Given the description of an element on the screen output the (x, y) to click on. 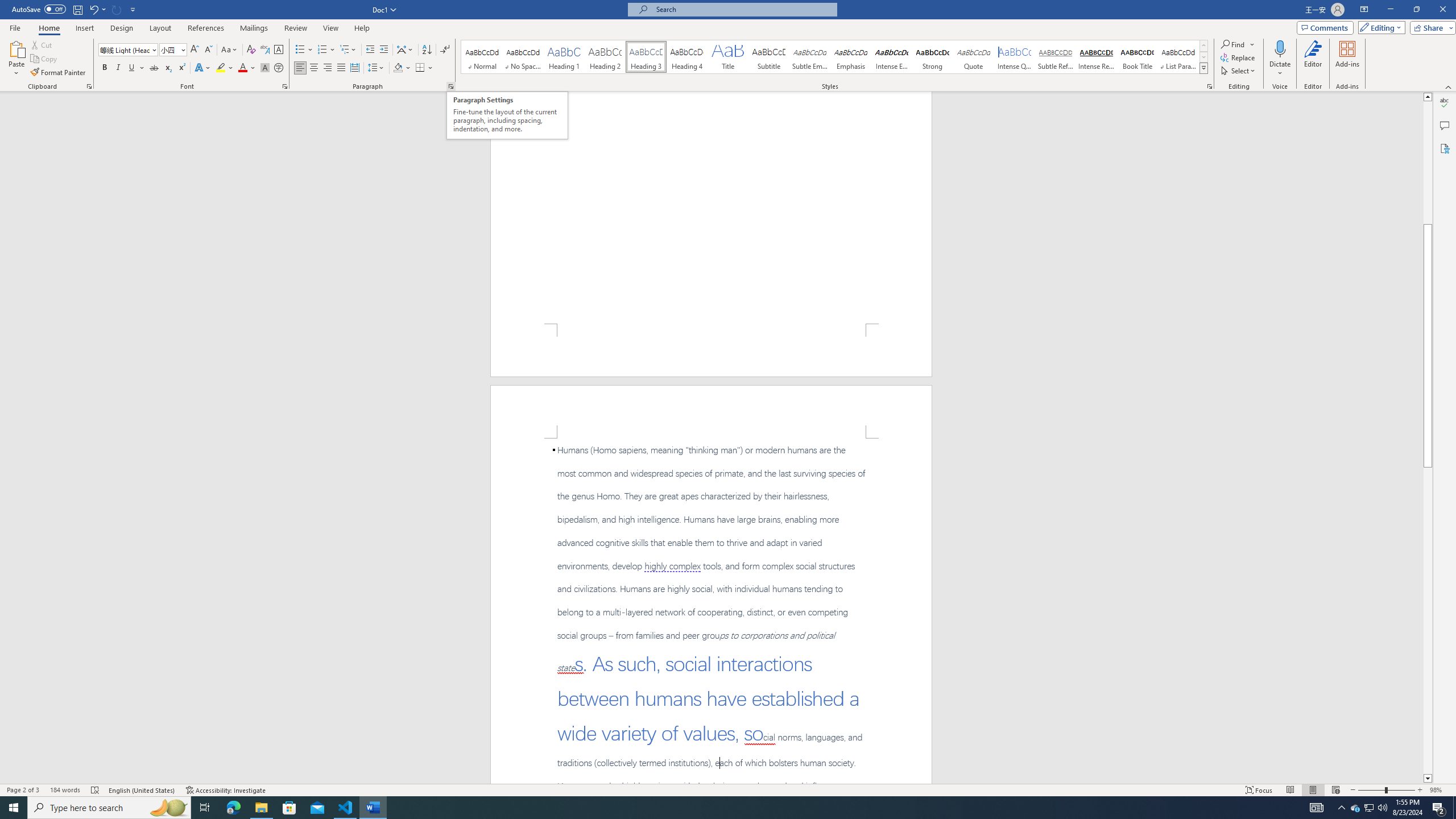
Header -Section 1- (710, 411)
Undo Apply Quick Style (92, 9)
Superscript (180, 67)
Intense Emphasis (891, 56)
Page 2 content (710, 610)
Class: NetUIScrollBar (1427, 437)
Justify (340, 67)
Spelling and Grammar Check Errors (94, 790)
Styles (1203, 67)
